Given the description of an element on the screen output the (x, y) to click on. 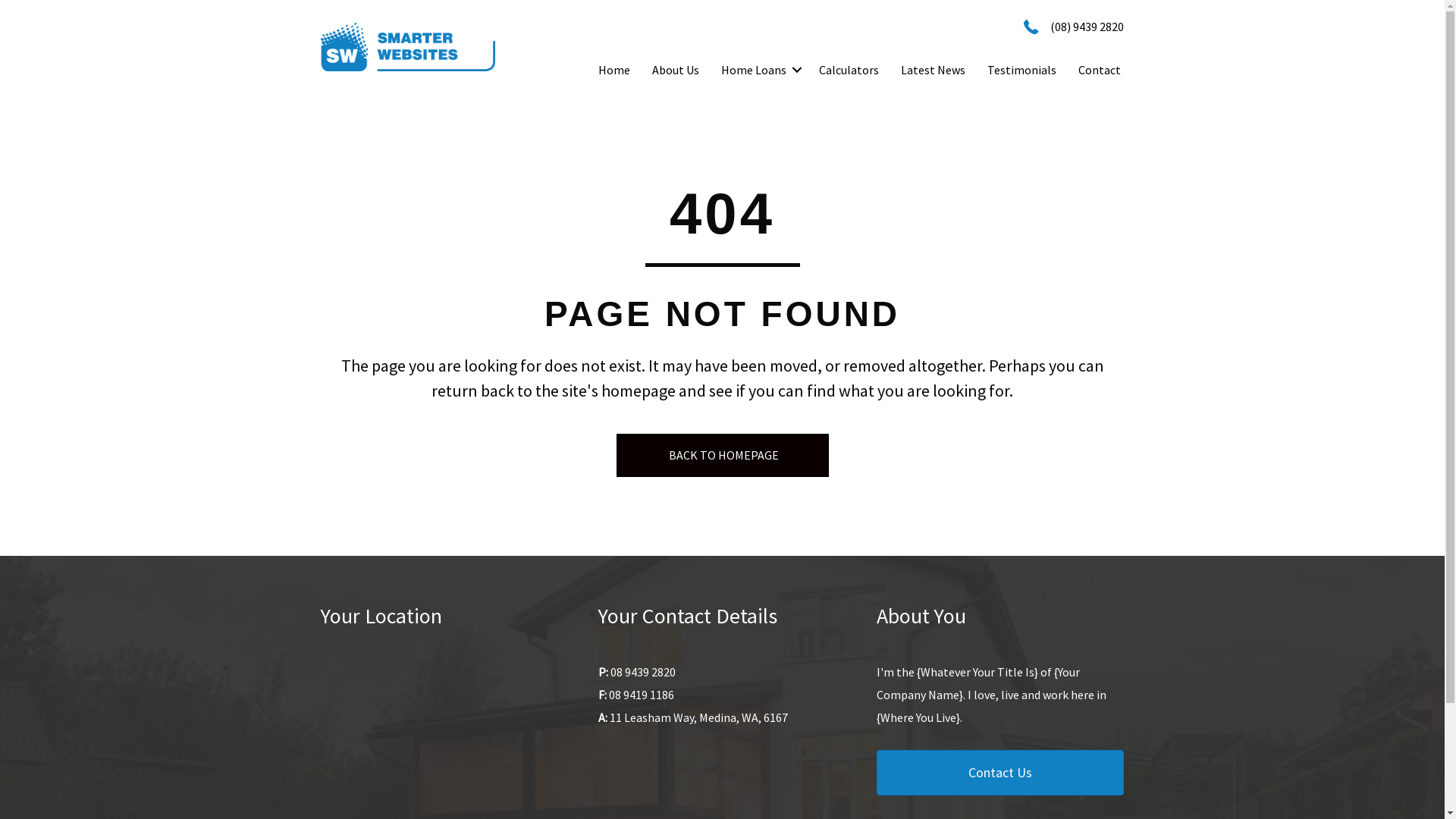
Home Element type: text (613, 69)
Latest News Element type: text (932, 69)
Home Loans Element type: text (758, 69)
(08) 9439 2820 Element type: text (1086, 26)
About Us Element type: text (675, 69)
Contact Us Element type: text (1000, 772)
Testimonials Element type: text (1021, 69)
Calculators Element type: text (848, 69)
Contact Element type: text (1099, 69)
BACK TO HOMEPAGE Element type: text (721, 454)
